Given the description of an element on the screen output the (x, y) to click on. 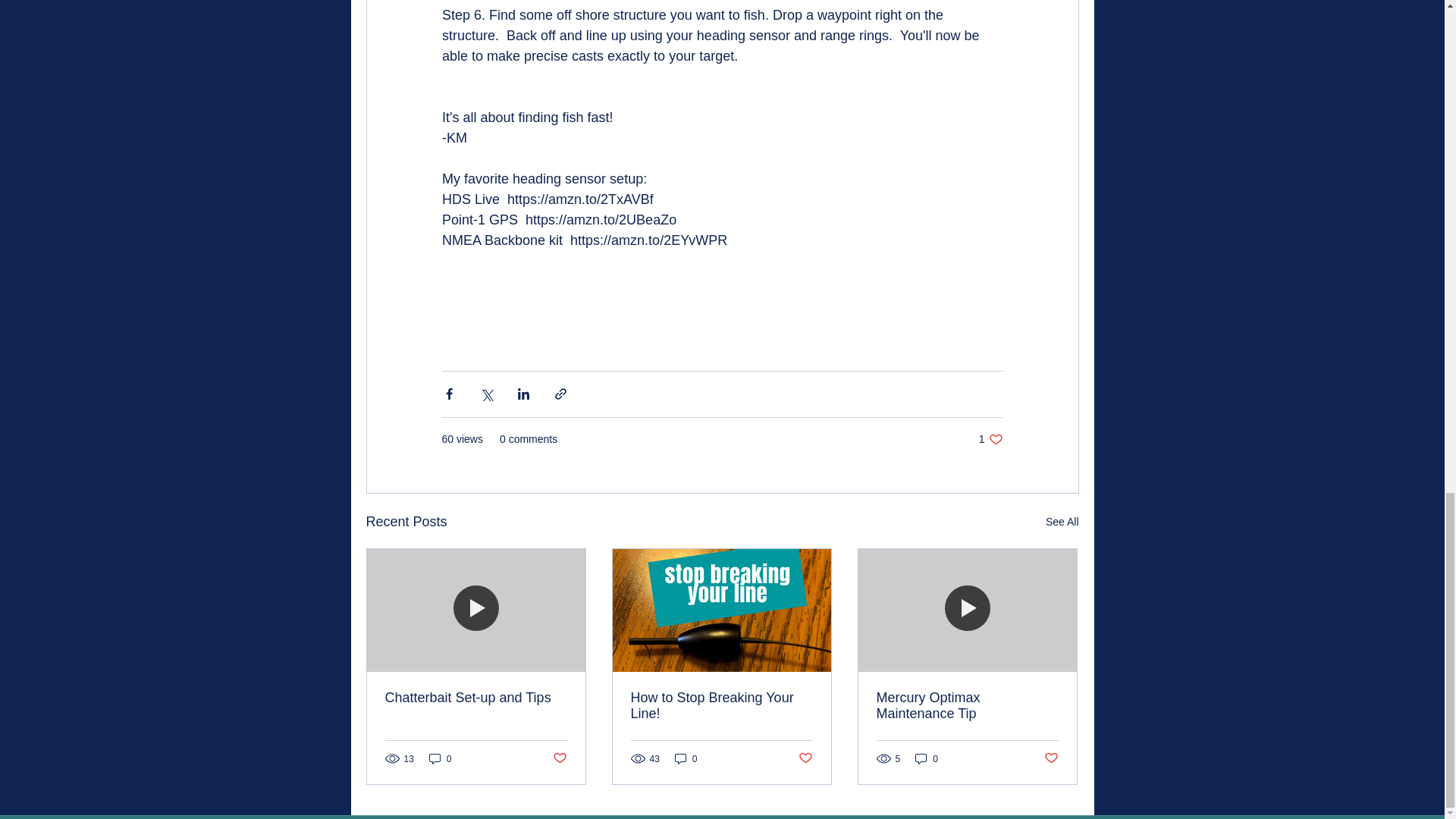
Chatterbait Set-up and Tips (476, 697)
0 (926, 758)
0 (685, 758)
Post not marked as liked (804, 758)
0 (990, 439)
Mercury Optimax Maintenance Tip (440, 758)
How to Stop Breaking Your Line! (967, 705)
Post not marked as liked (721, 705)
See All (1050, 758)
